Given the description of an element on the screen output the (x, y) to click on. 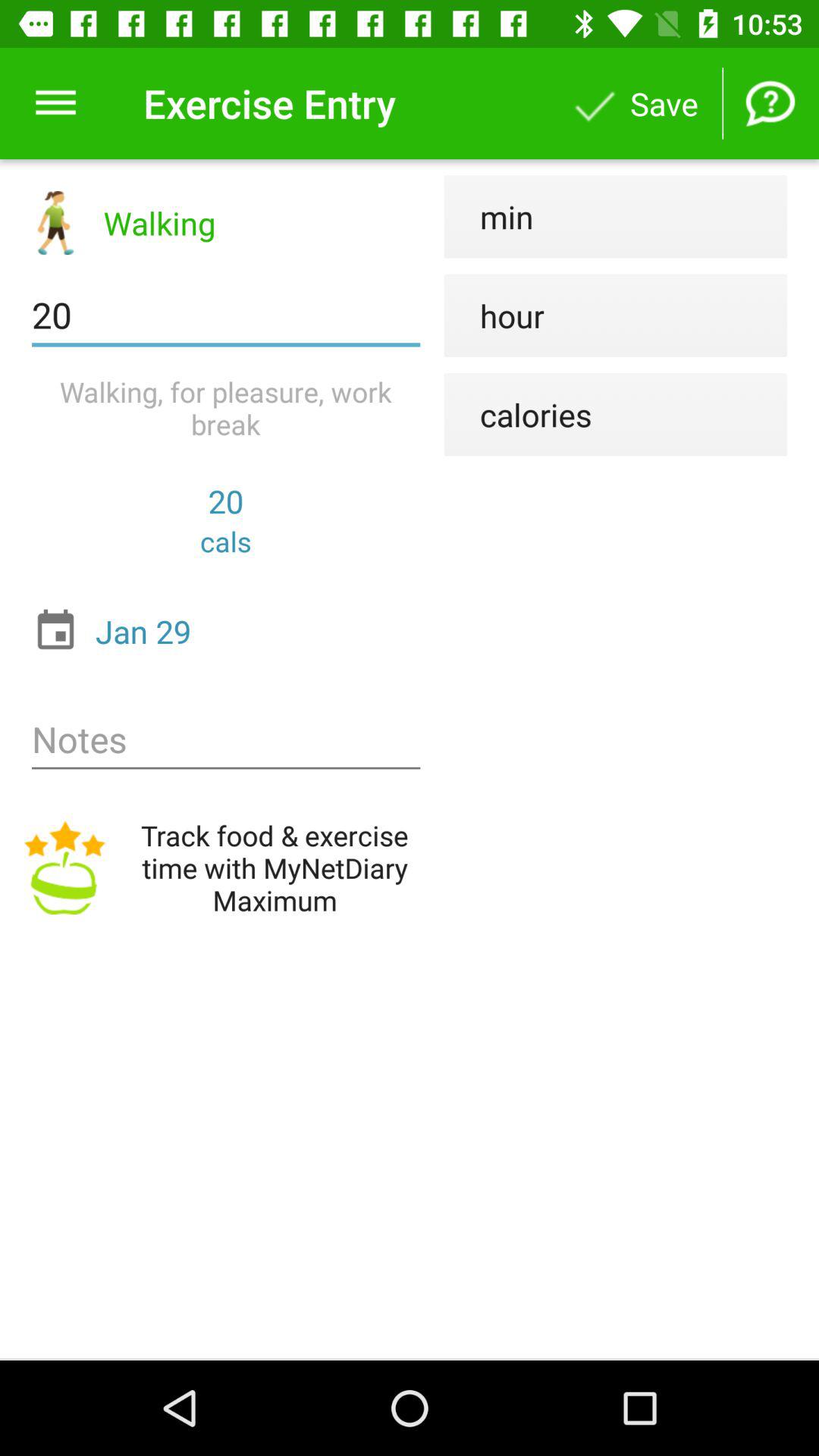
select the item next to walking for pleasure icon (518, 414)
